Given the description of an element on the screen output the (x, y) to click on. 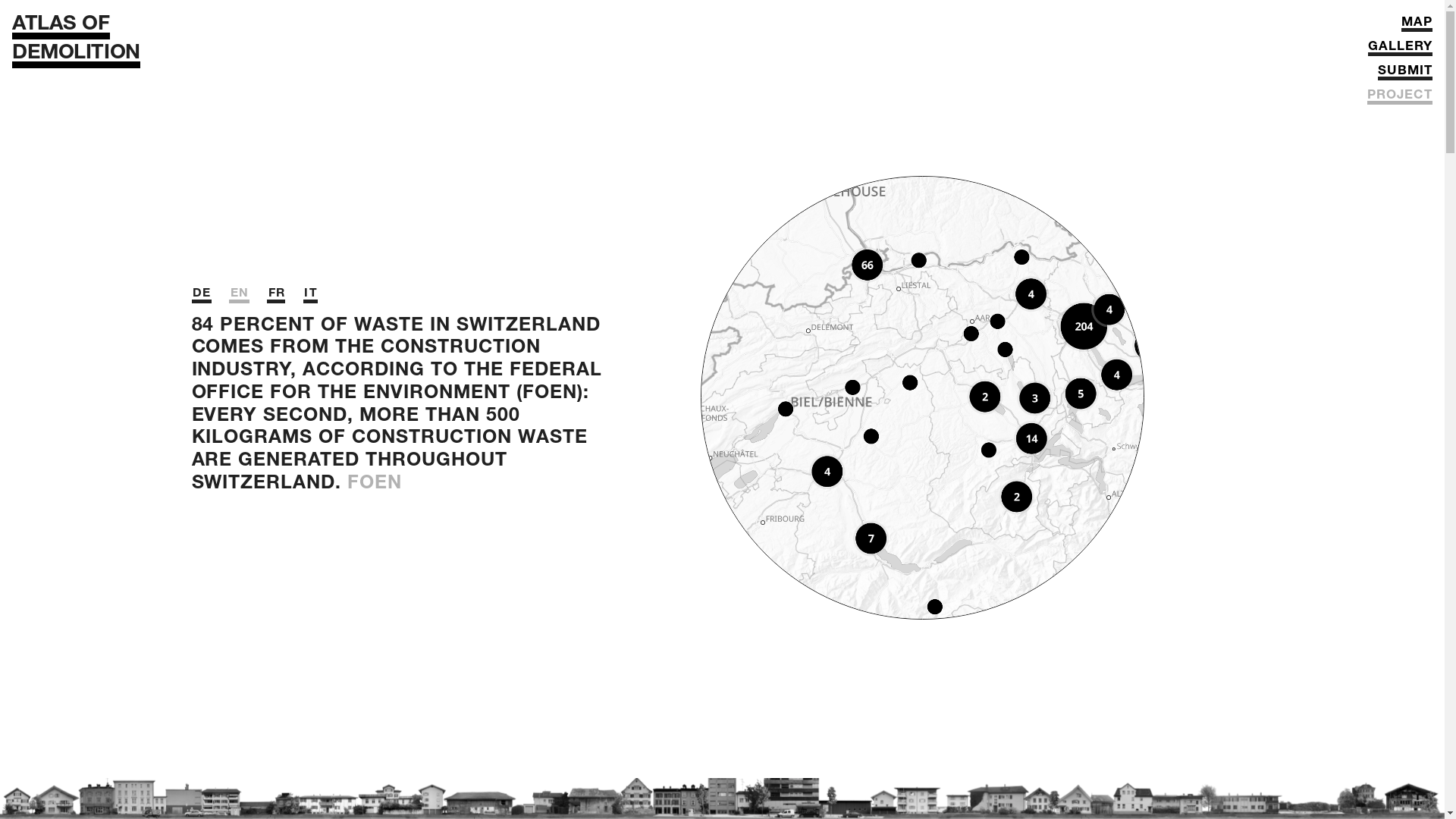
MAP Element type: text (1416, 25)
FOEN Element type: text (374, 483)
FR Element type: text (275, 295)
IT Element type: text (310, 295)
DE Element type: text (200, 295)
SUBMIT Element type: text (1404, 73)
EN Element type: text (238, 295)
PROJECT Element type: text (1399, 97)
GALLERY Element type: text (1400, 49)
